Given the description of an element on the screen output the (x, y) to click on. 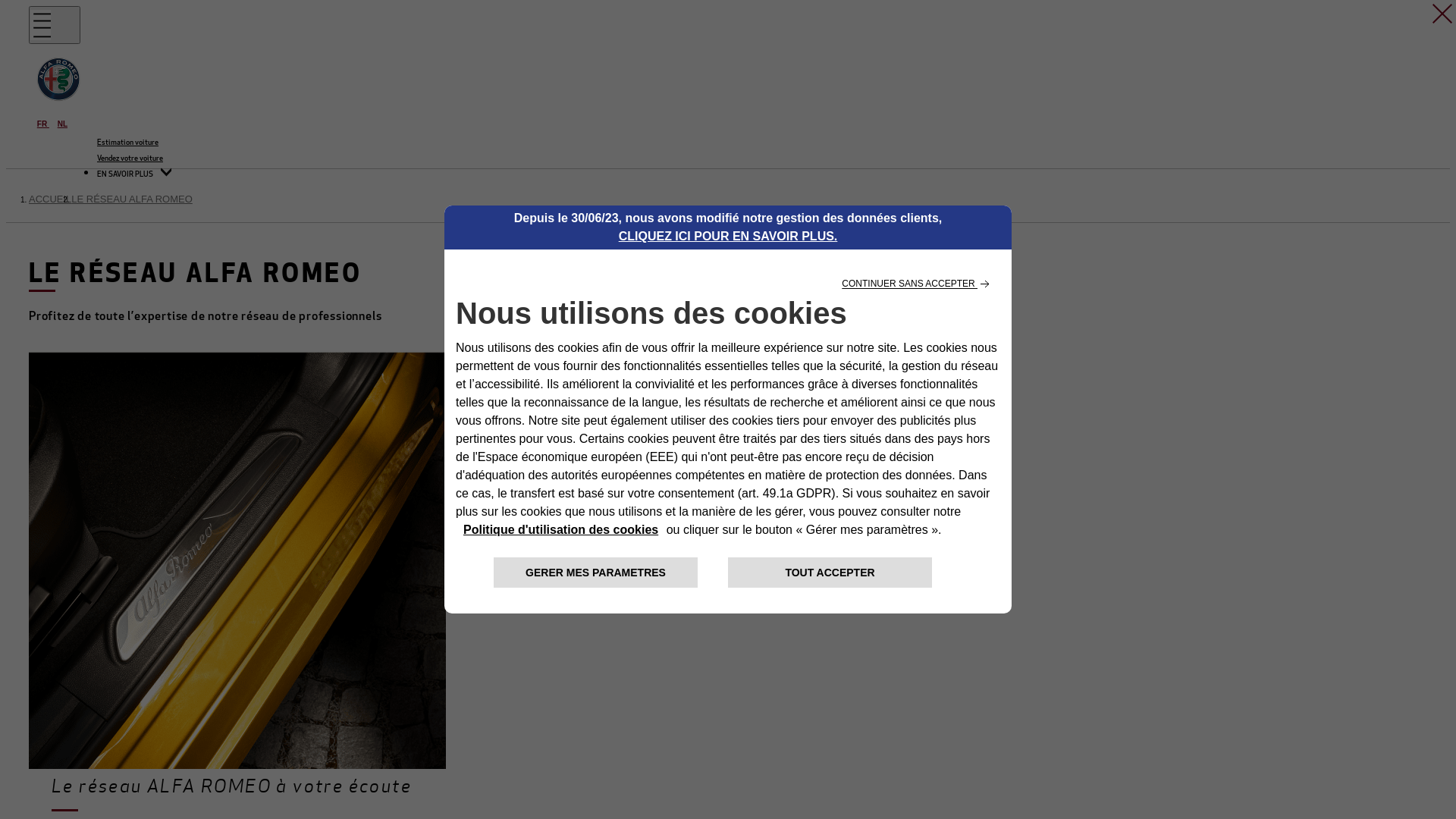
ACCUEIL Element type: text (49, 198)
Estimation voiture Element type: text (127, 142)
FR Element type: text (43, 123)
NL Element type: text (62, 123)
Vendez votre voiture Element type: text (130, 158)
EN SAVOIR PLUS Element type: text (134, 174)
